Given the description of an element on the screen output the (x, y) to click on. 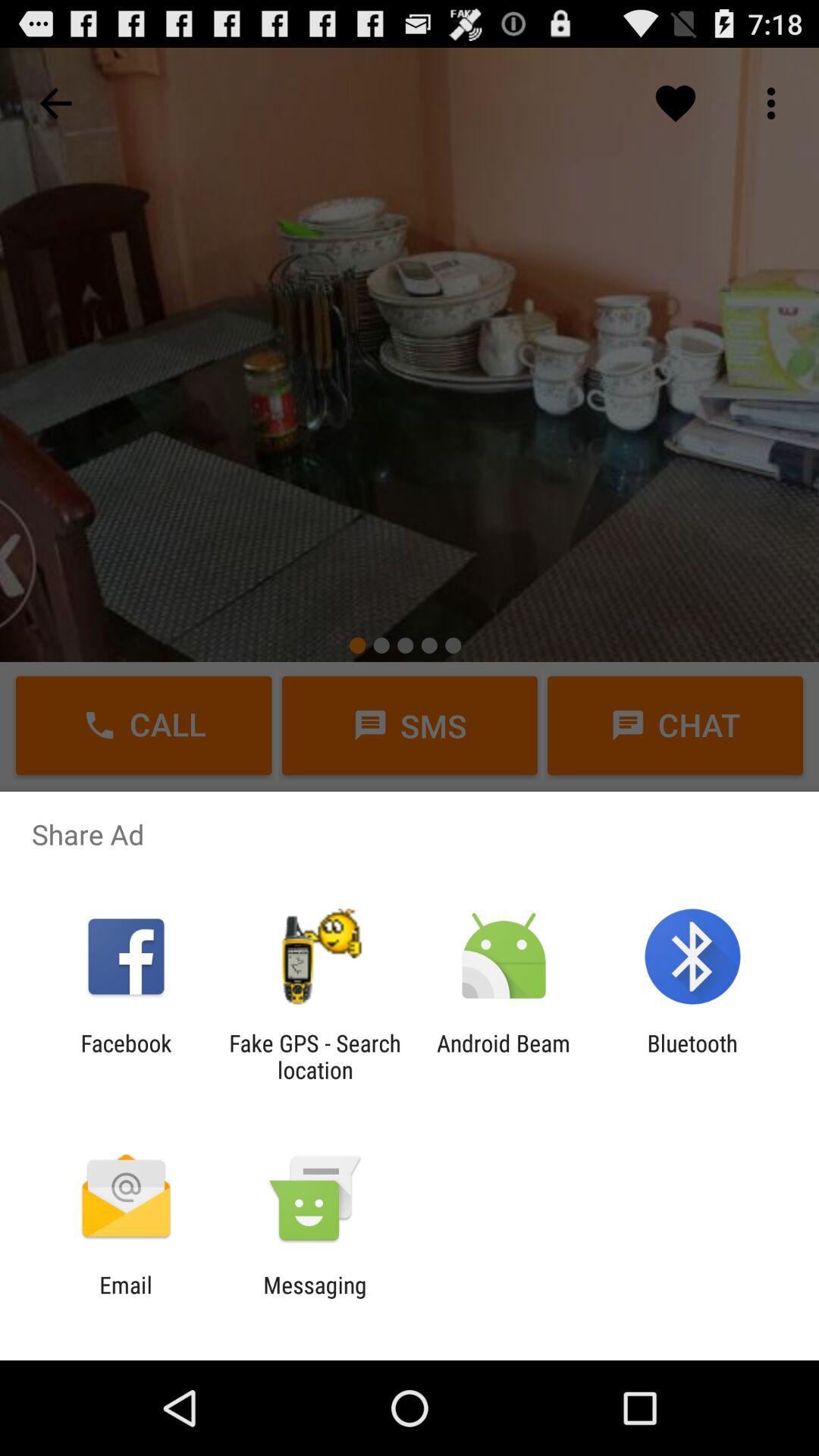
launch the item next to android beam (692, 1056)
